Given the description of an element on the screen output the (x, y) to click on. 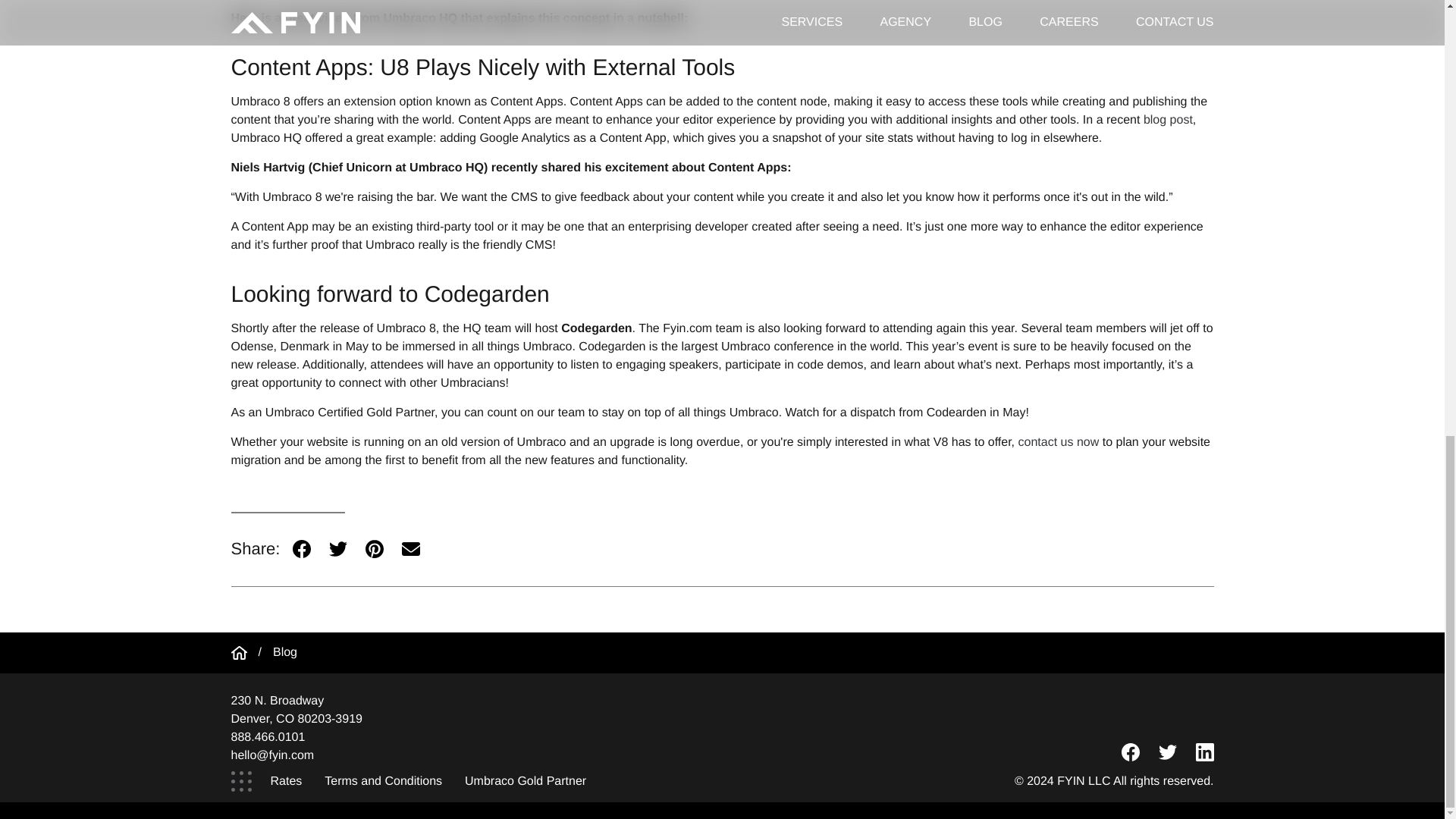
blog post (1167, 119)
Umbraco Gold Partner (524, 777)
Blog (285, 652)
Rates (286, 777)
888.466.0101 (267, 737)
Terms and Conditions (382, 777)
Facebook (301, 548)
Contact (1058, 441)
contact us now (1058, 441)
